Given the description of an element on the screen output the (x, y) to click on. 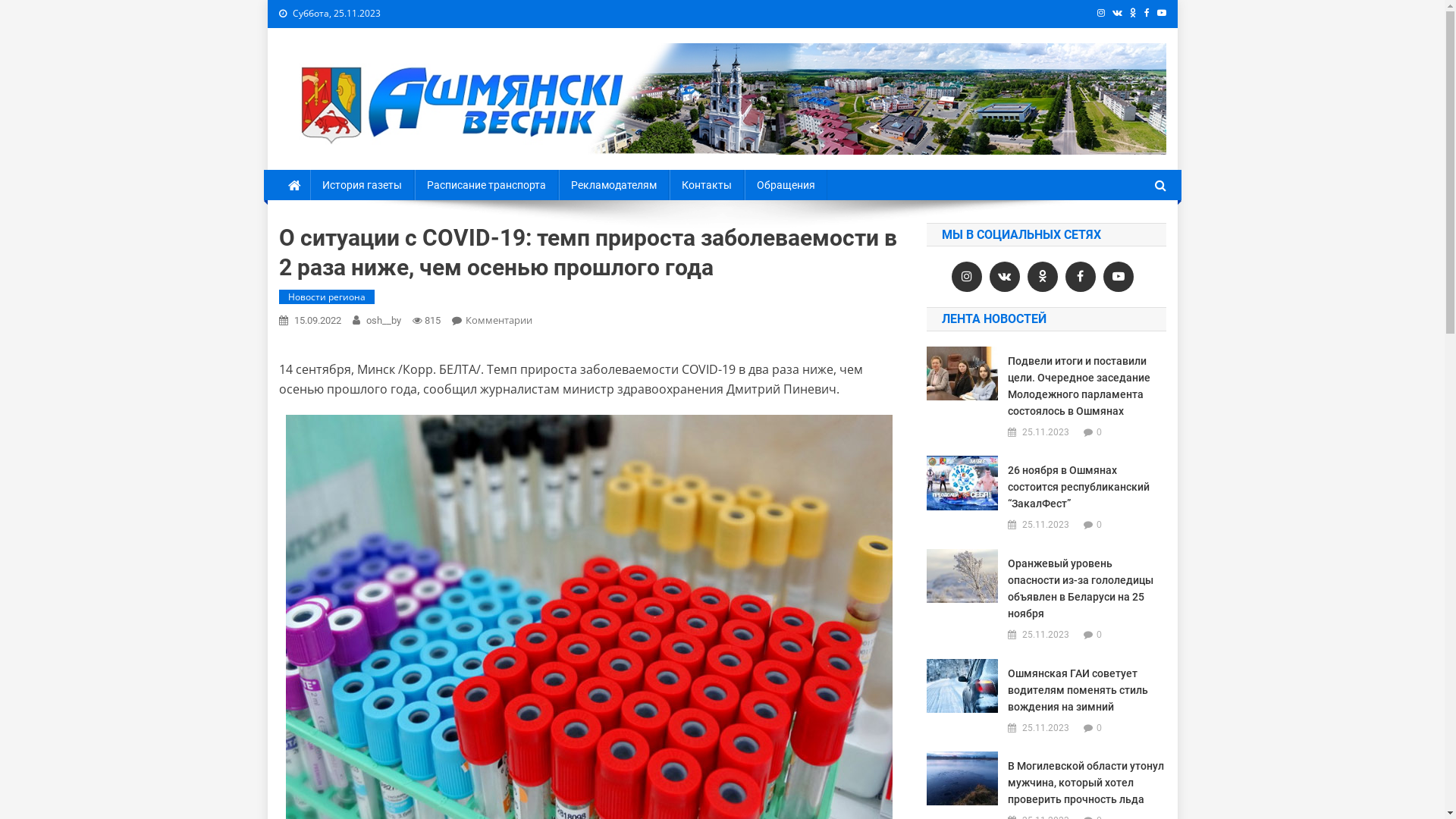
0 Element type: text (1098, 431)
25.11.2023 Element type: text (1045, 634)
25.11.2023 Element type: text (1045, 524)
25.11.2023 Element type: text (1045, 432)
osh__by Element type: text (382, 320)
15.09.2022 Element type: text (317, 320)
0 Element type: text (1098, 524)
25.11.2023 Element type: text (1045, 728)
0 Element type: text (1098, 727)
0 Element type: text (1098, 634)
